Given the description of an element on the screen output the (x, y) to click on. 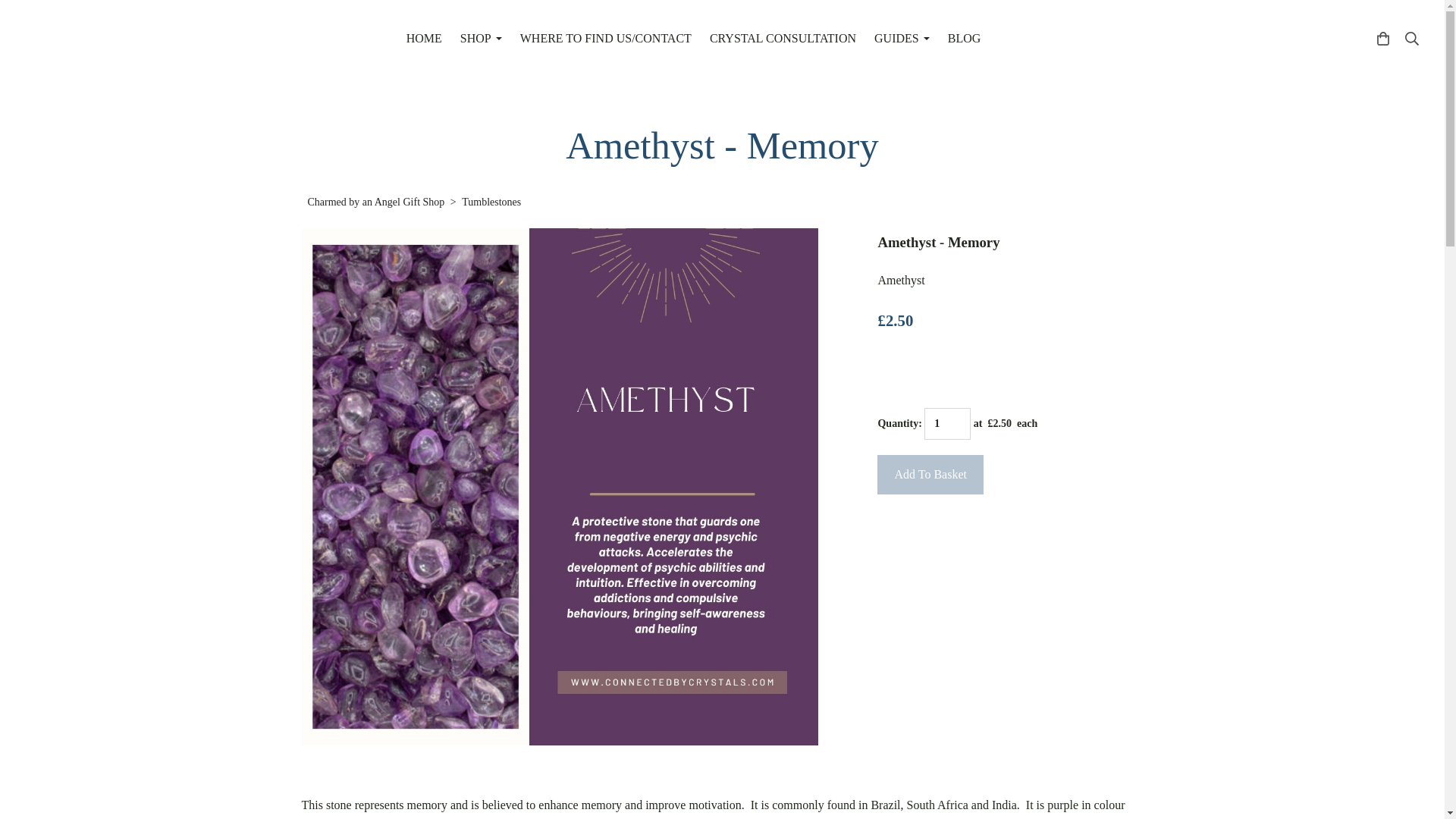
HOME (424, 38)
1 (947, 423)
SHOP (481, 38)
